Given the description of an element on the screen output the (x, y) to click on. 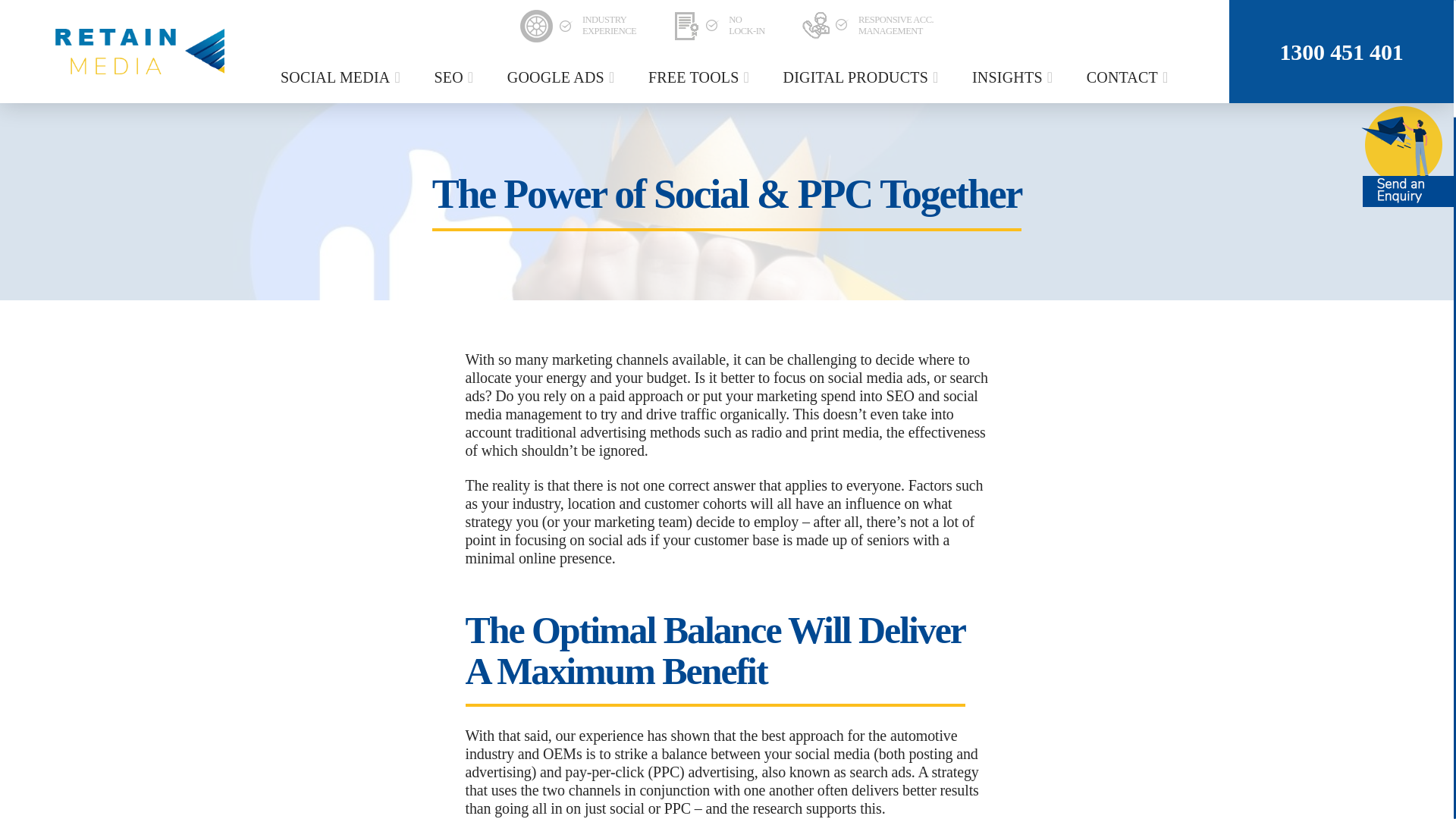
FREE TOOLS (700, 76)
SEO (455, 76)
INSIGHTS (1015, 76)
1300 451 401 (1341, 51)
GOOGLE ADS (563, 76)
CONTACT (1129, 76)
Contact (1129, 76)
1300 451 401 (1341, 51)
DIGITAL PRODUCTS (863, 76)
SOCIAL MEDIA (342, 76)
